Given the description of an element on the screen output the (x, y) to click on. 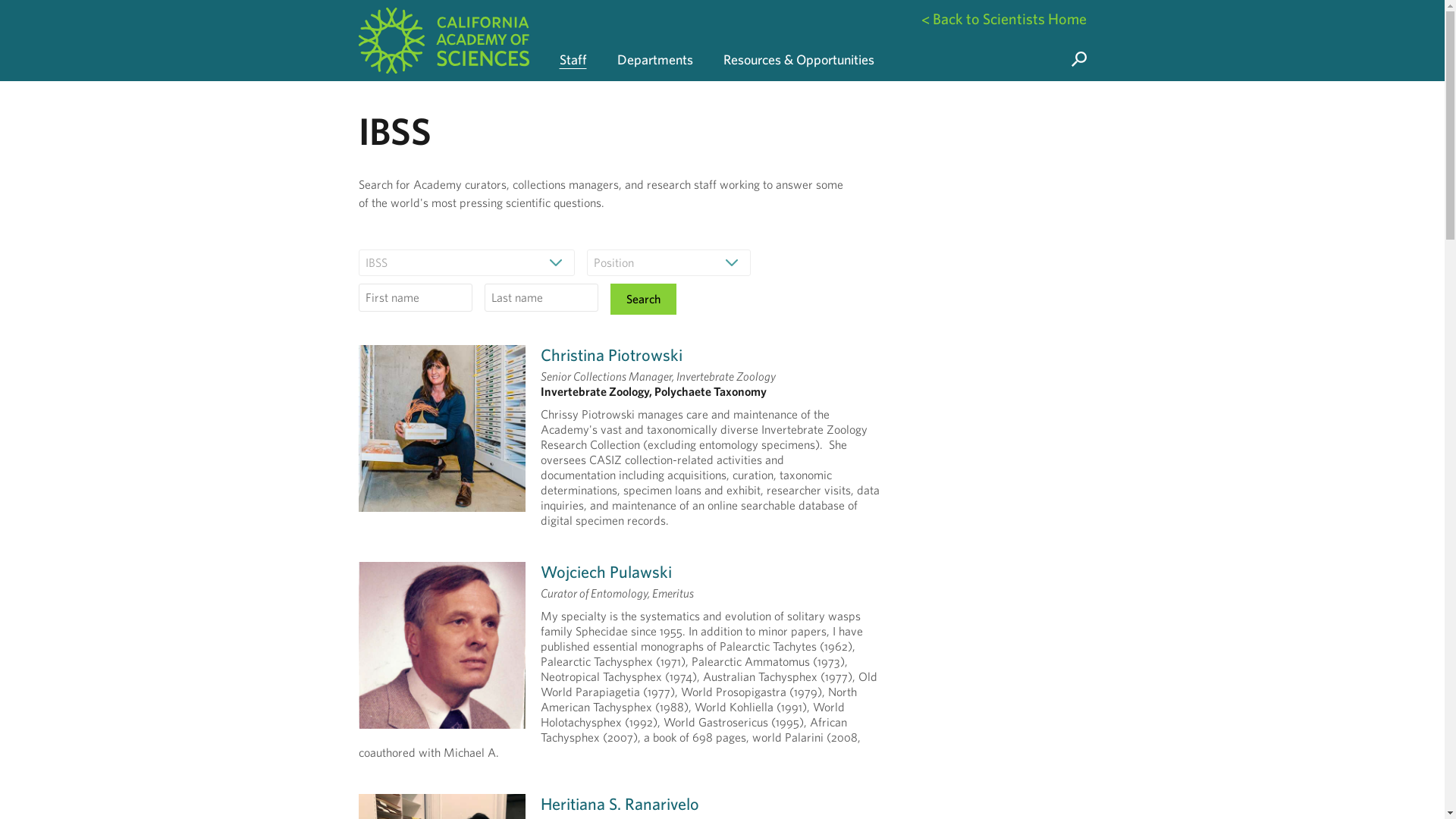
Home (443, 40)
Wojciech Pulawski (605, 570)
Christina Piotrowski (610, 353)
Heritiana S. Ranarivelo (619, 803)
Back to Scientists Home (1003, 18)
Search (642, 298)
Search (642, 298)
Departments (654, 40)
